Given the description of an element on the screen output the (x, y) to click on. 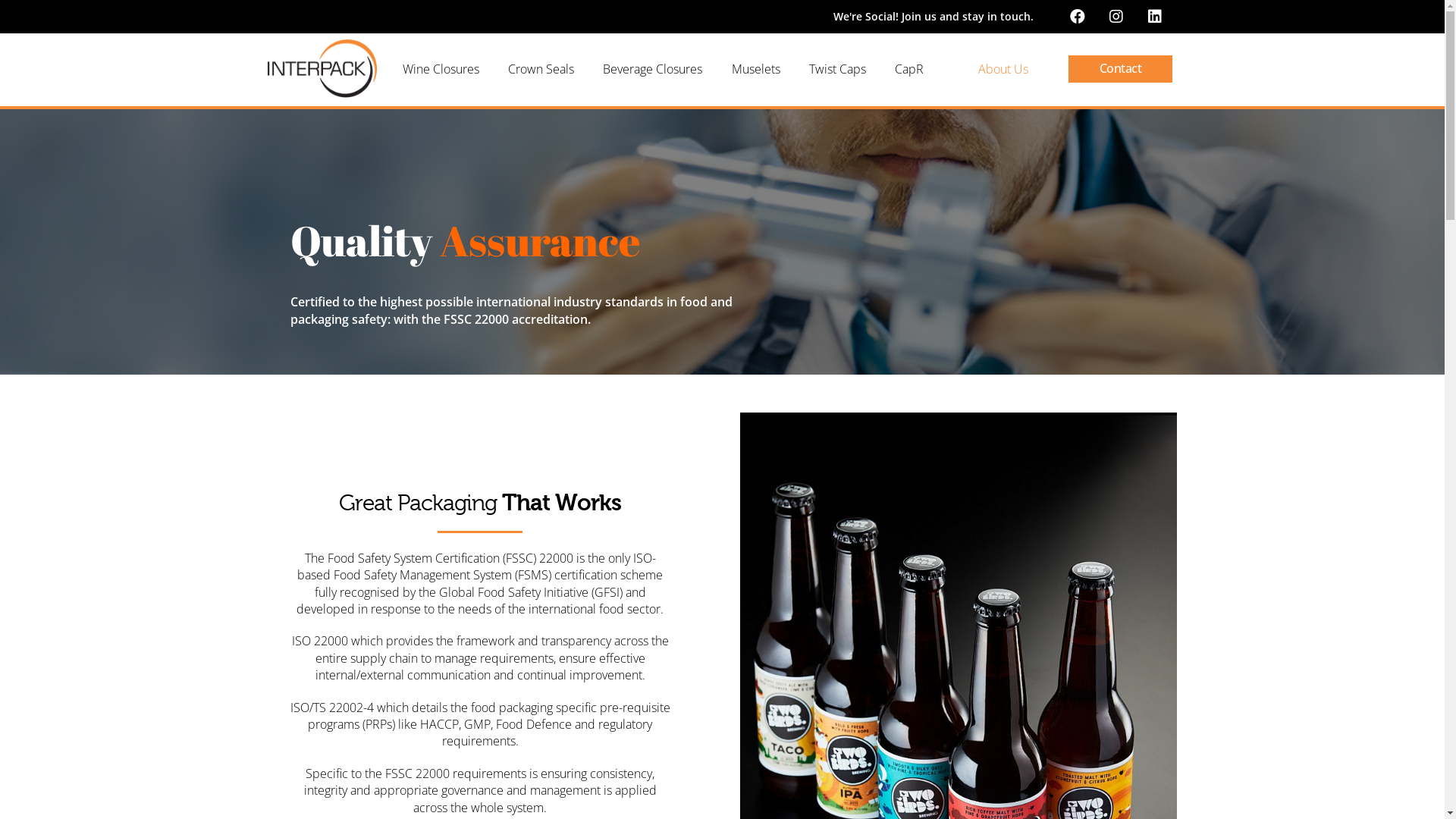
Beverage Closures Element type: text (652, 68)
CapR Element type: text (909, 68)
Wine Closures Element type: text (440, 68)
Crown Seals Element type: text (540, 68)
Contact Element type: text (1119, 68)
Muselets Element type: text (755, 68)
Twist Caps Element type: text (837, 68)
About Us Element type: text (1009, 68)
